Given the description of an element on the screen output the (x, y) to click on. 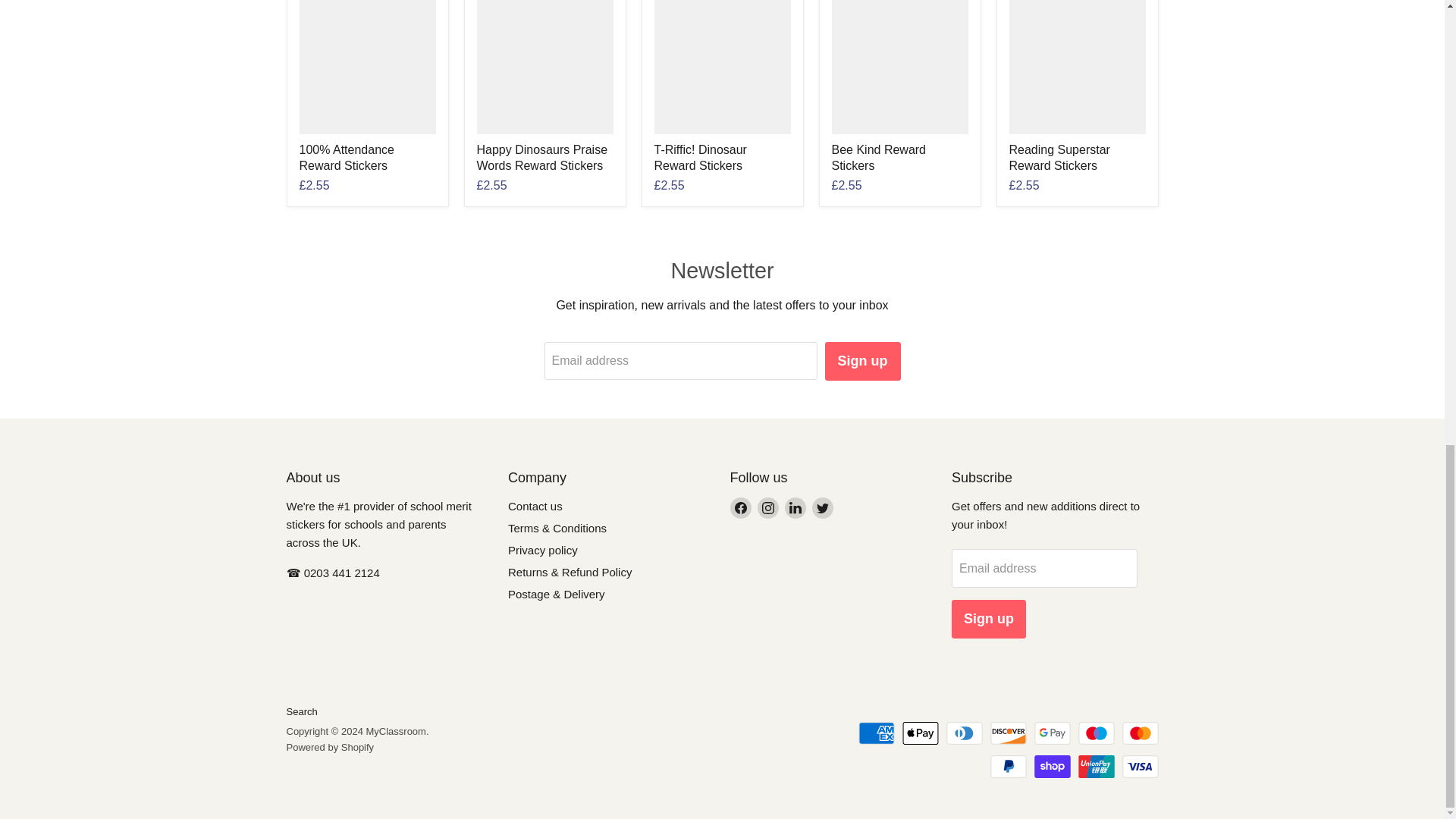
Apple Pay (920, 732)
Diners Club (964, 732)
Instagram (767, 507)
Twitter (821, 507)
Google Pay (1051, 732)
American Express (877, 732)
Discover (1008, 732)
LinkedIn (794, 507)
Facebook (740, 507)
